Given the description of an element on the screen output the (x, y) to click on. 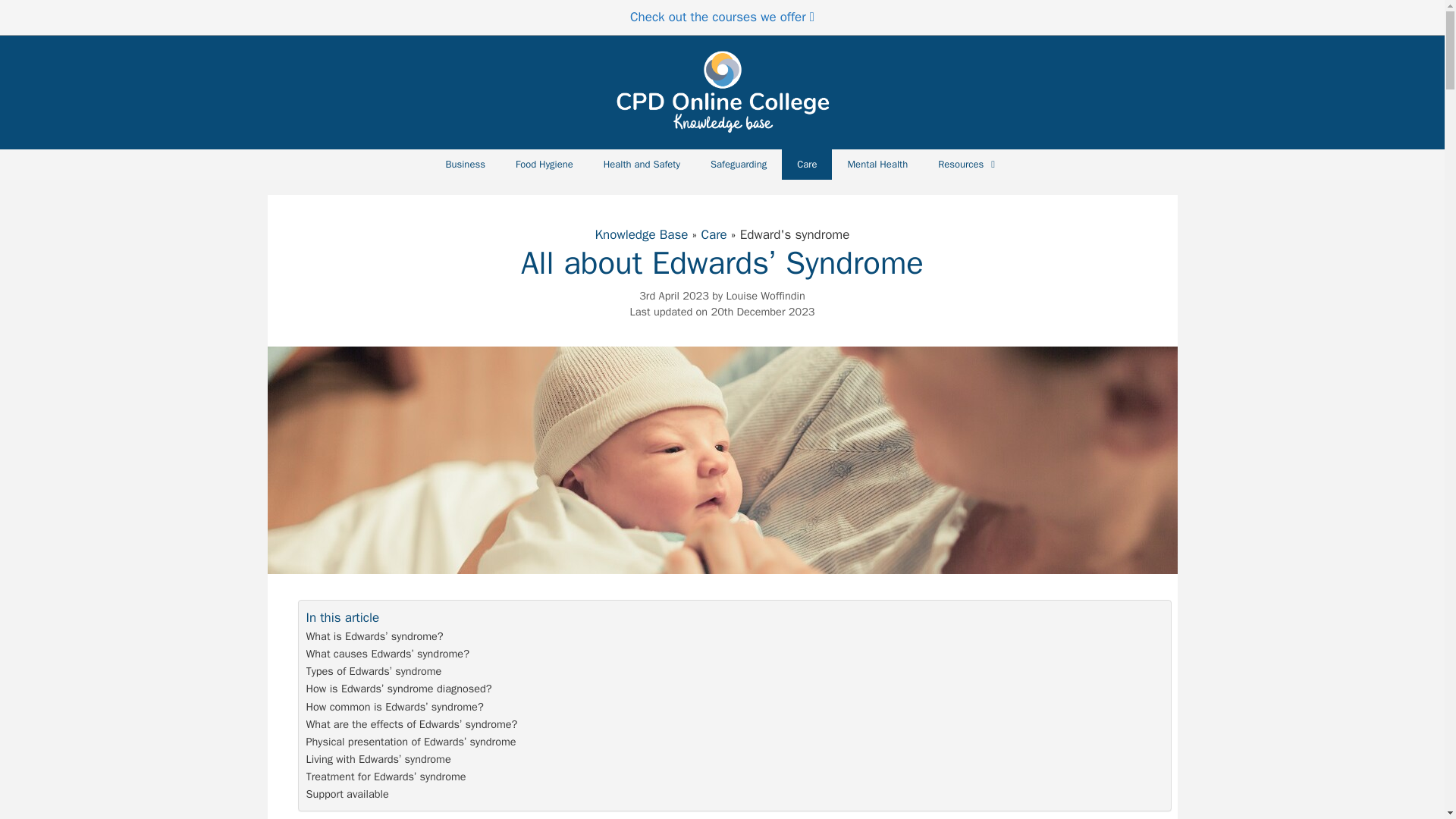
Mental Health (877, 164)
Care (713, 234)
Resources (968, 164)
Support available (346, 794)
Food Hygiene (544, 164)
Business (464, 164)
Care (806, 164)
Health and Safety (641, 164)
Support available (346, 794)
Check out the courses we offer (721, 17)
